Given the description of an element on the screen output the (x, y) to click on. 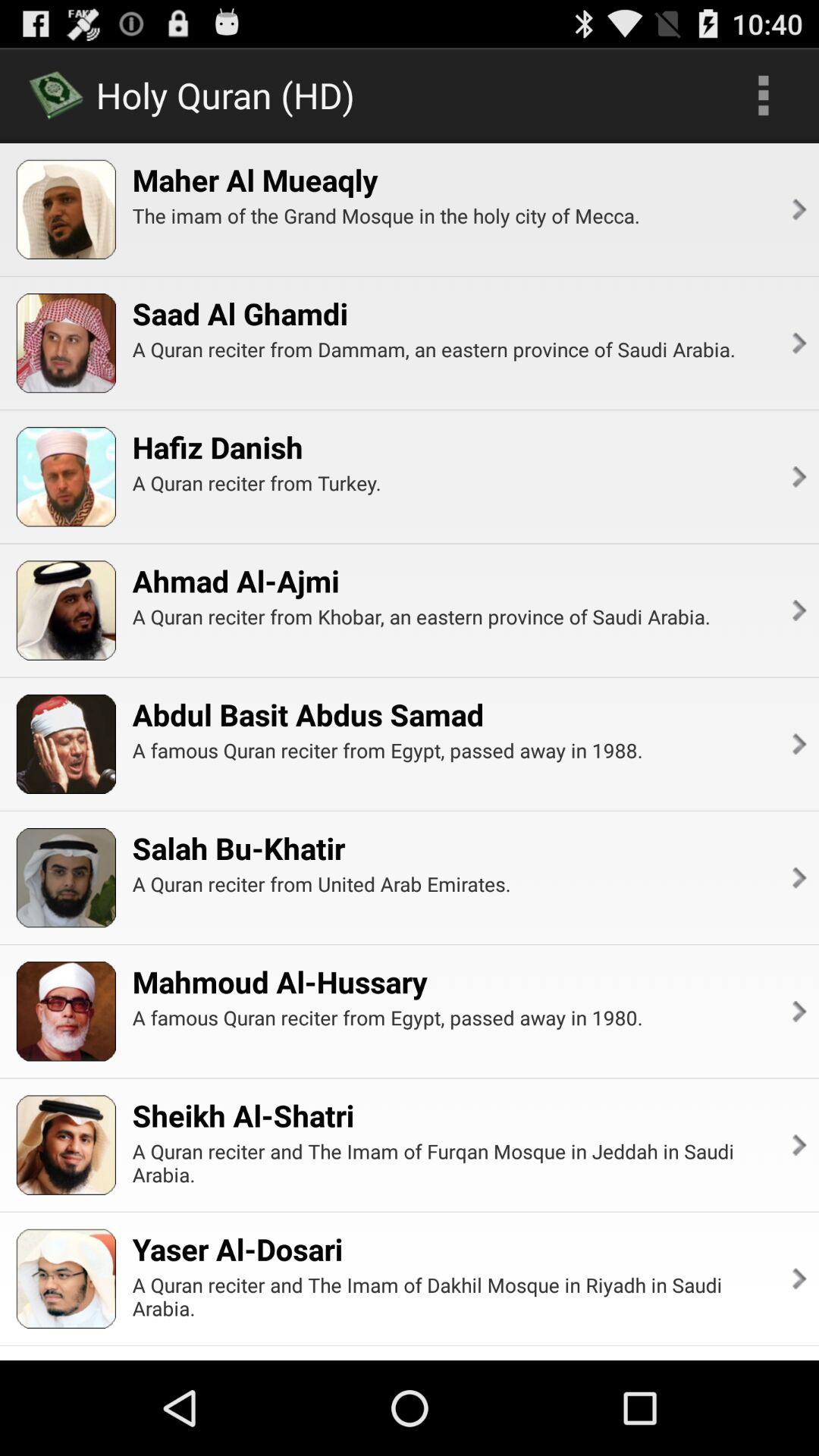
turn off icon to the right of the a quran reciter icon (797, 476)
